Given the description of an element on the screen output the (x, y) to click on. 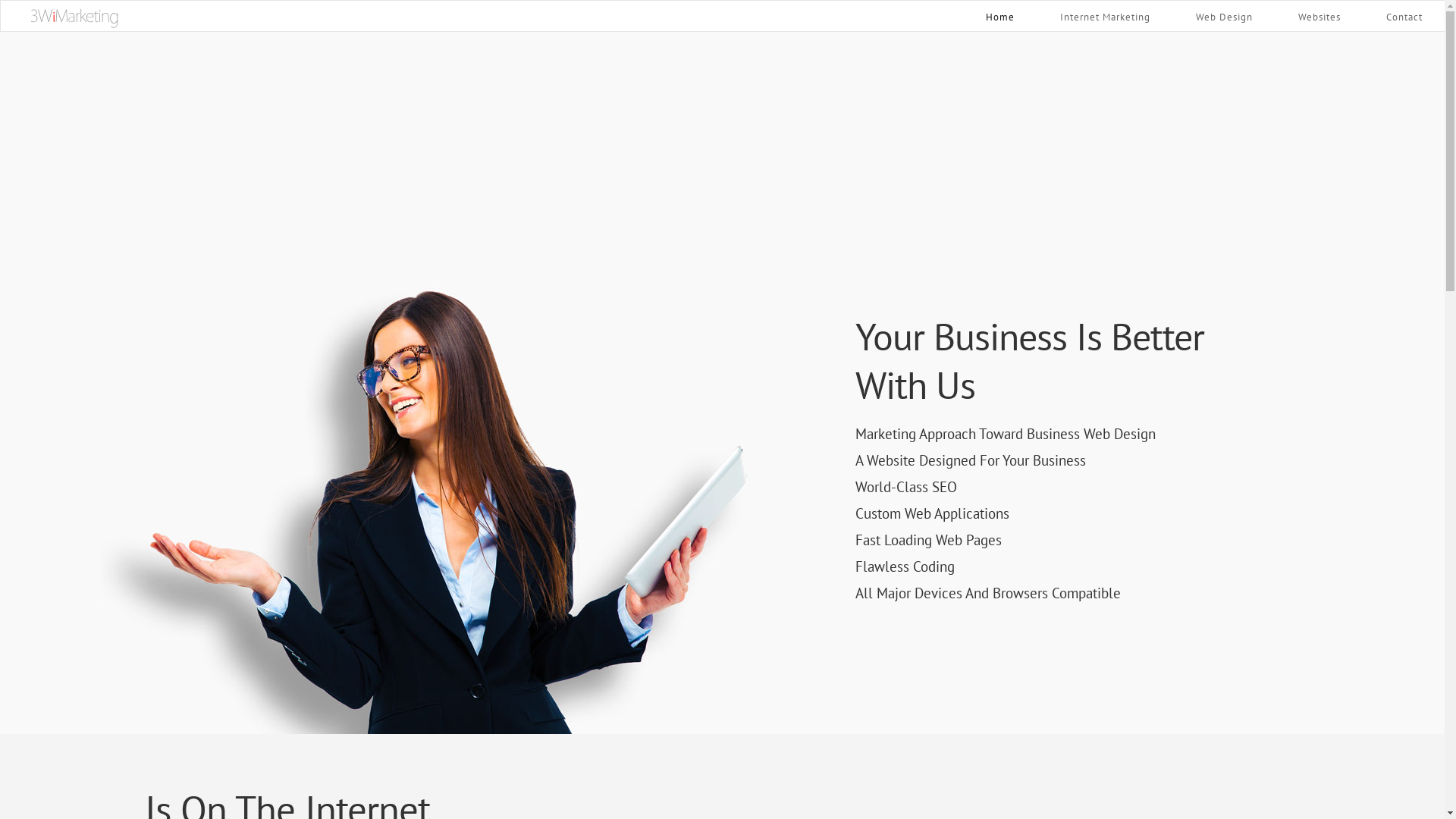
Internet Marketing Element type: text (1105, 15)
  Element type: text (73, 18)
Contact Element type: text (1404, 15)
Home Element type: text (1000, 14)
Websites Element type: text (1319, 15)
Web Design Element type: text (1224, 15)
